Given the description of an element on the screen output the (x, y) to click on. 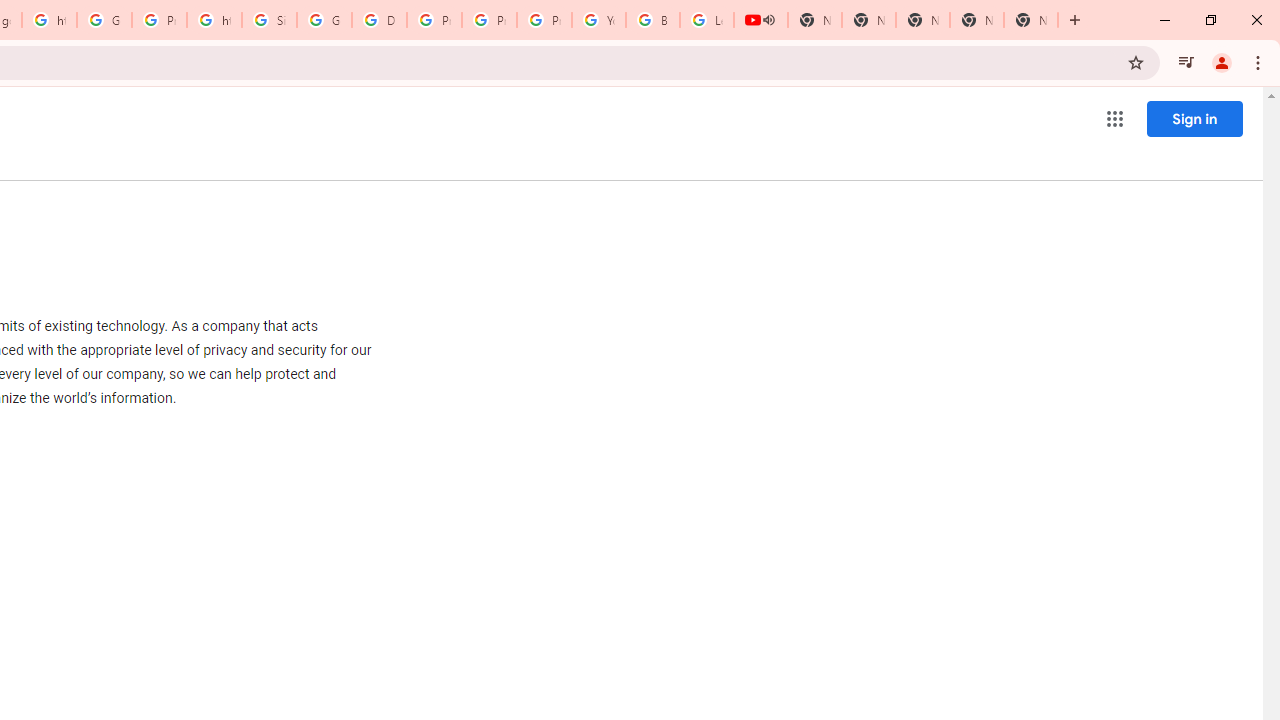
New Tab (1030, 20)
Mute tab (768, 20)
Privacy Help Center - Policies Help (489, 20)
